Given the description of an element on the screen output the (x, y) to click on. 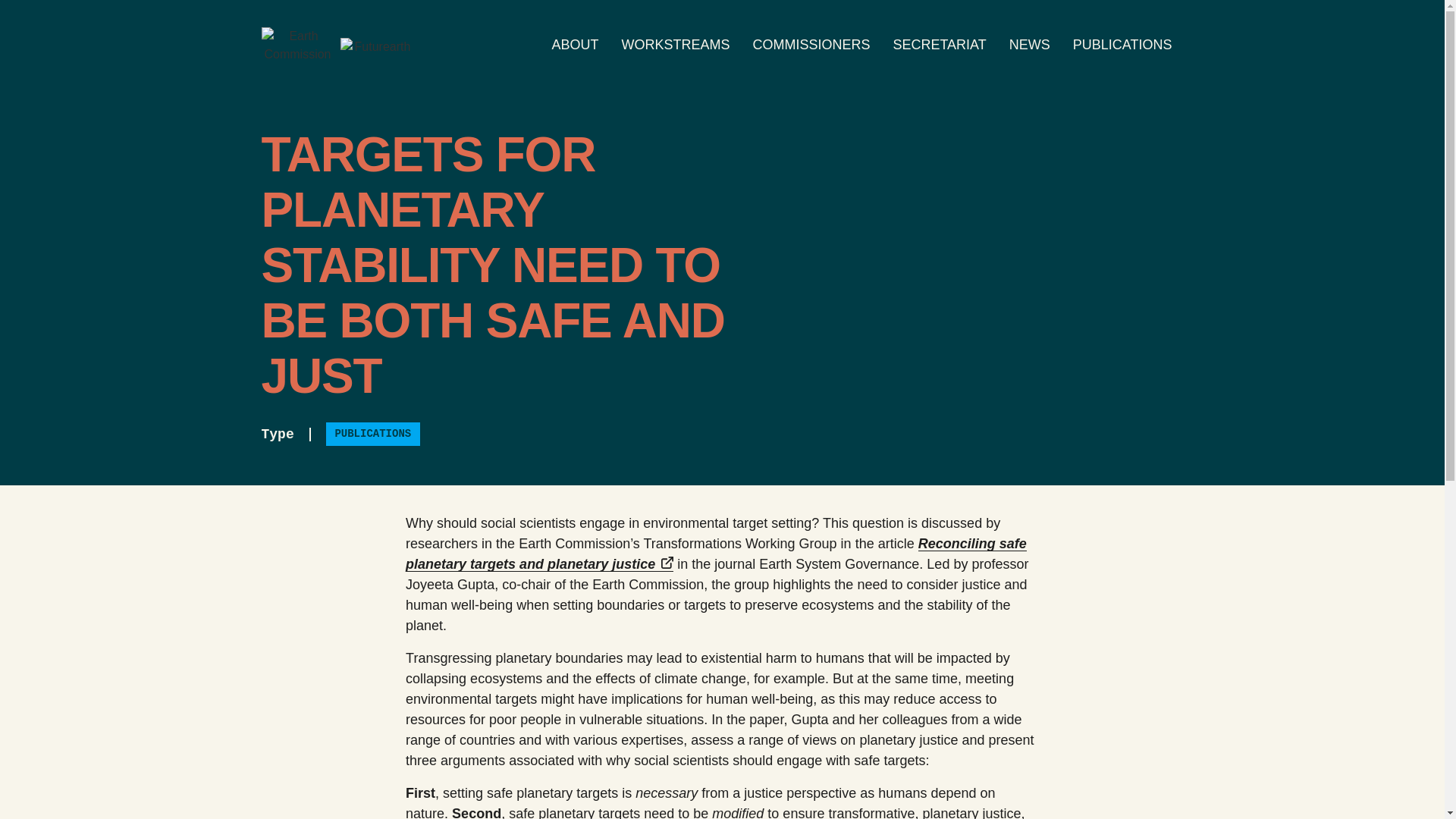
COMMISSIONERS (810, 45)
NEWS (1029, 45)
PUBLICATIONS (373, 433)
ABOUT (574, 45)
SECRETARIAT (938, 45)
PUBLICATIONS (1122, 45)
Earth Commission (296, 45)
WORKSTREAMS (675, 45)
